Given the description of an element on the screen output the (x, y) to click on. 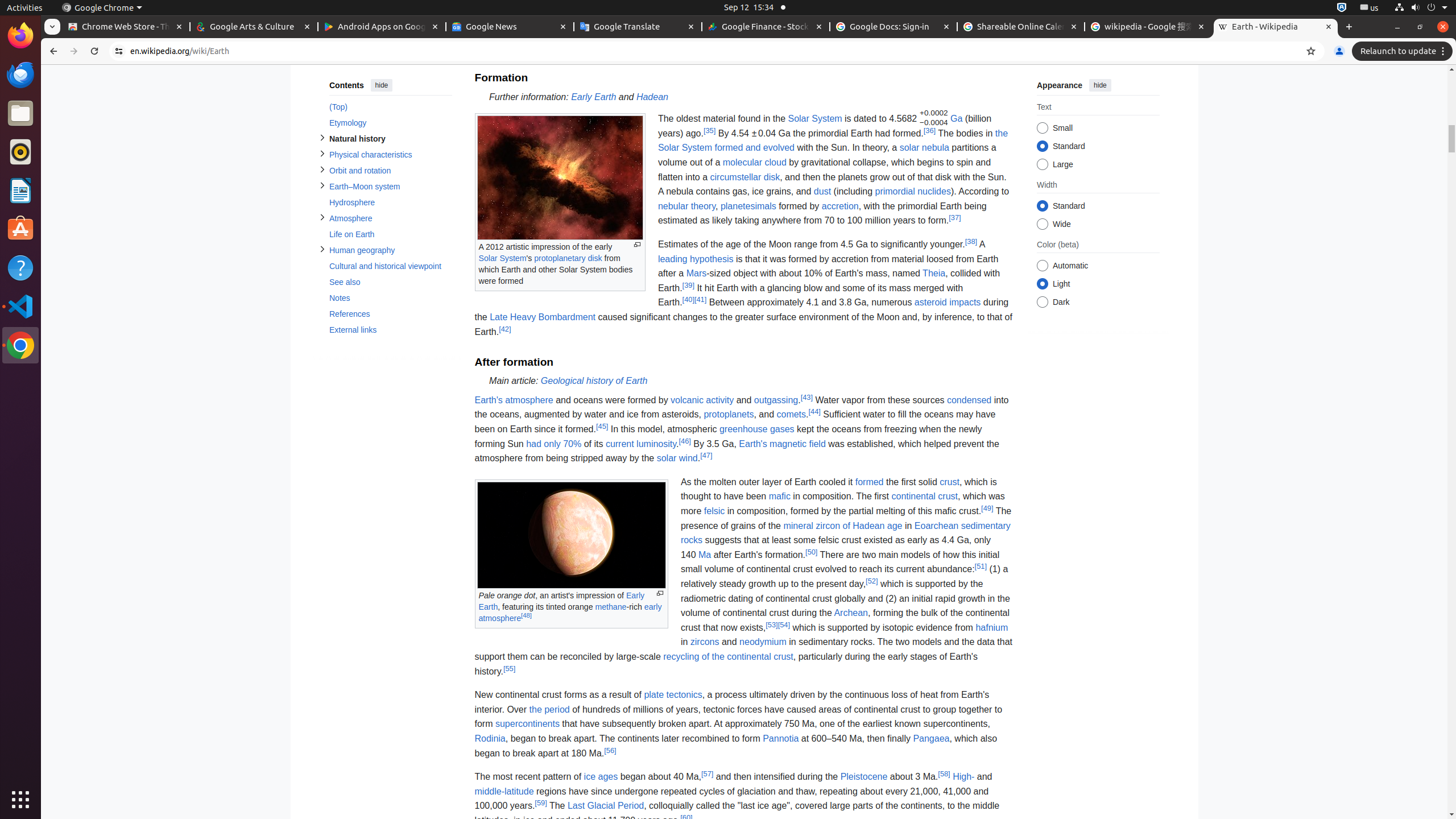
Google Docs: Sign-in - Memory usage - 33.3 MB Element type: page-tab (893, 26)
solar nebula Element type: link (924, 147)
nebular theory Element type: link (686, 205)
Ubuntu Software Element type: push-button (20, 229)
Automatic Element type: radio-button (1042, 265)
